Given the description of an element on the screen output the (x, y) to click on. 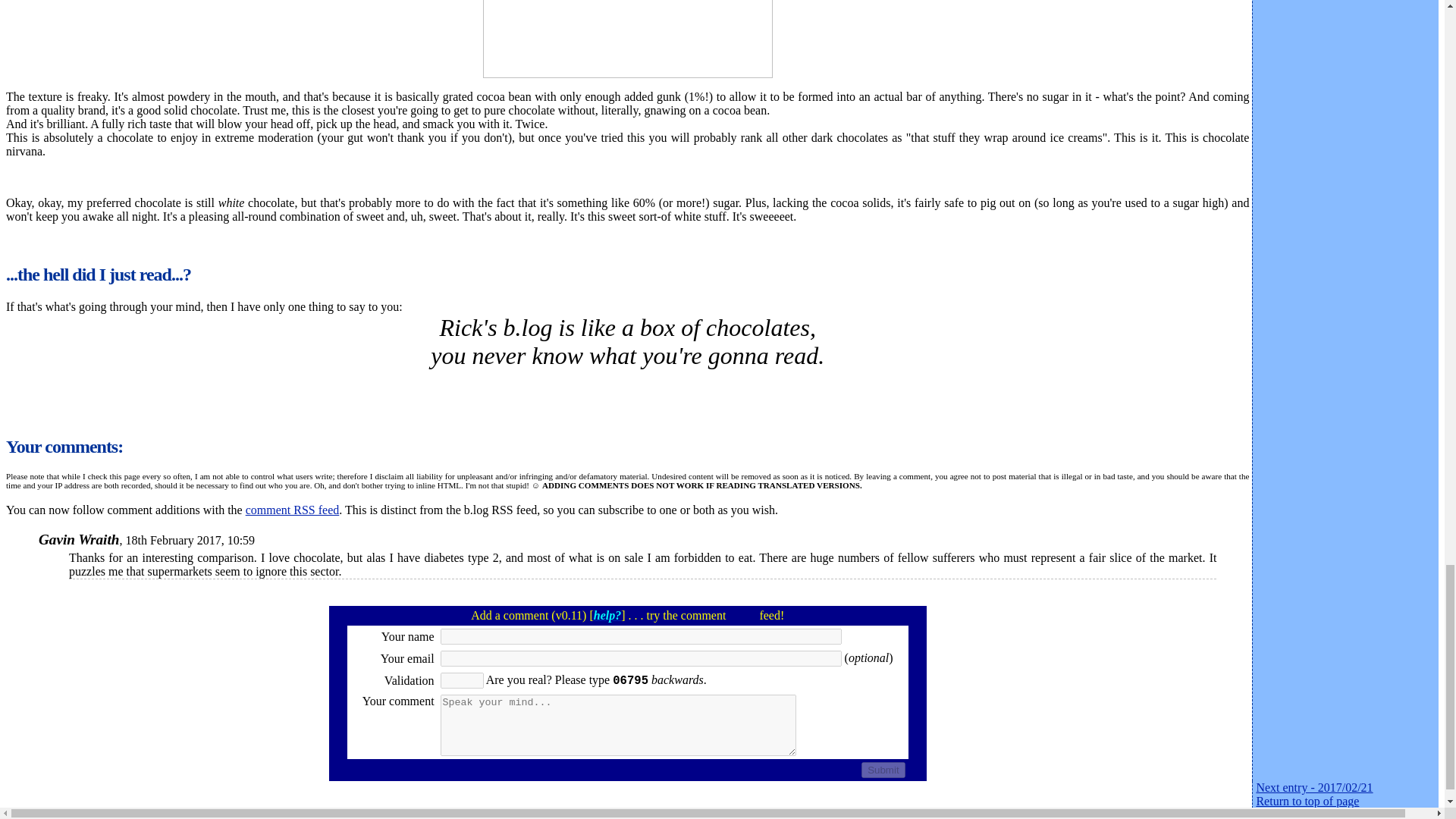
Submit (882, 770)
comment RSS feed (292, 509)
Submit (882, 770)
help? (607, 615)
